Given the description of an element on the screen output the (x, y) to click on. 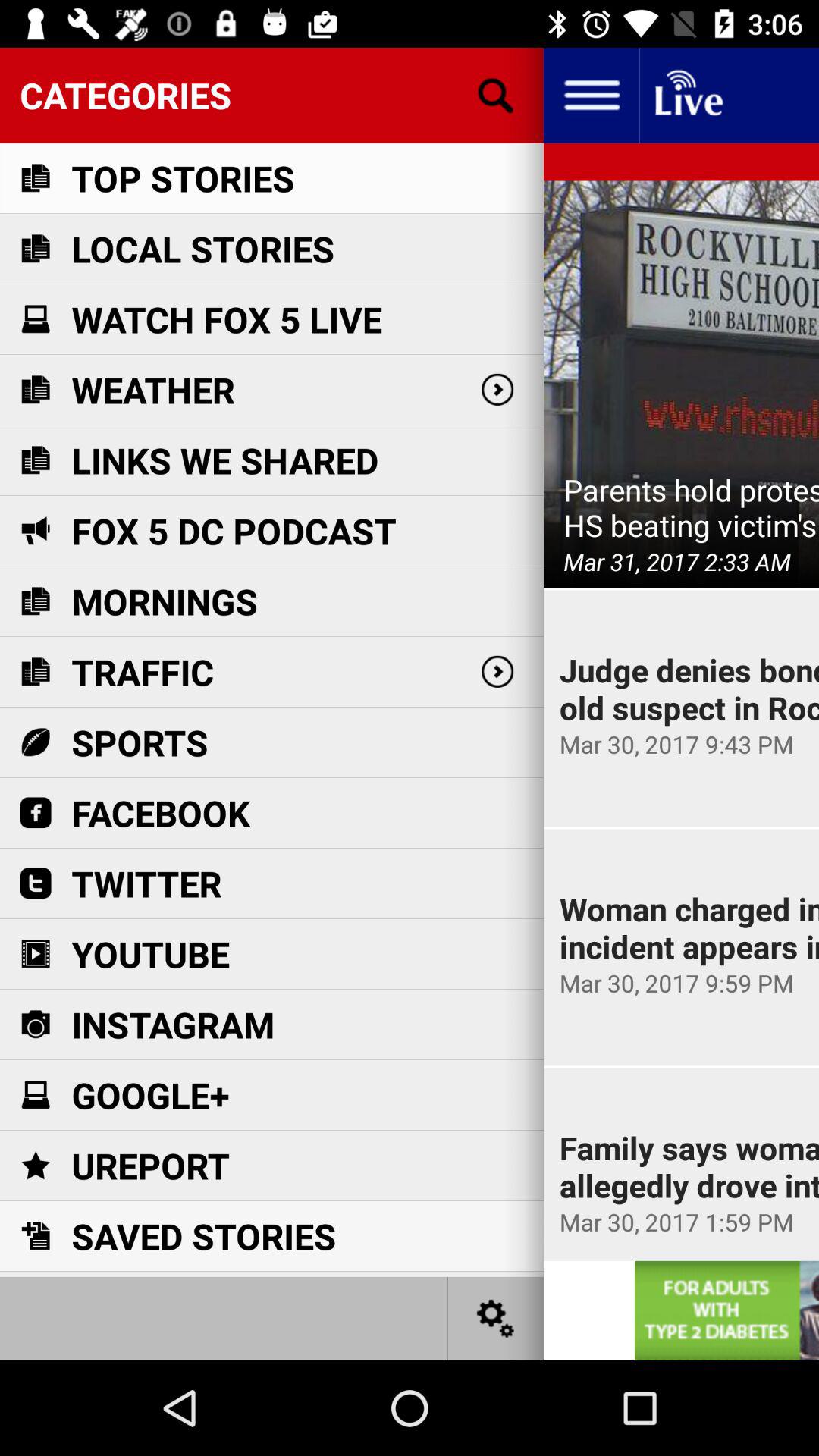
allows to share (495, 1318)
